Given the description of an element on the screen output the (x, y) to click on. 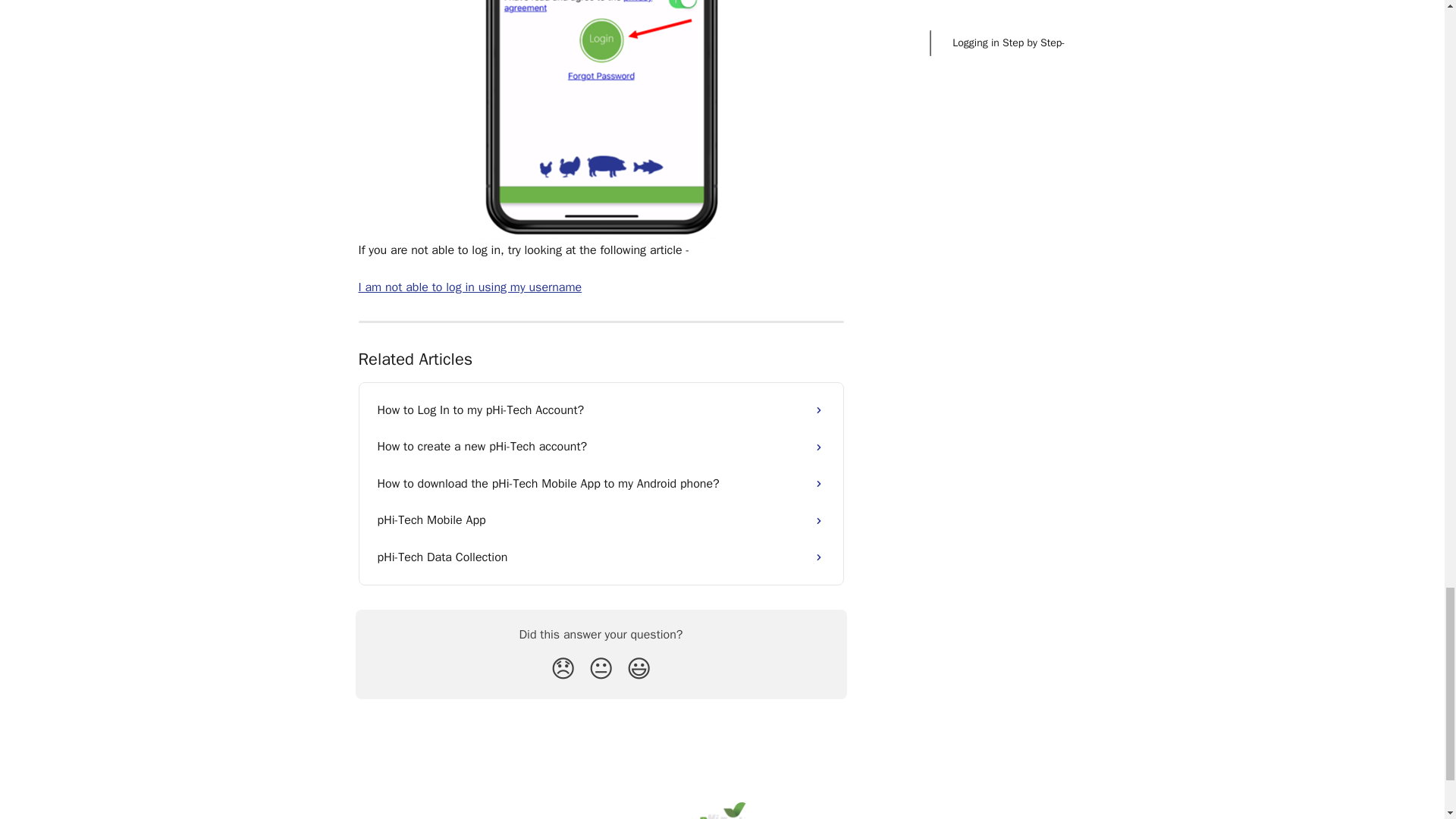
pHi-Tech Mobile App (601, 520)
Disappointed (562, 668)
How to download the pHi-Tech Mobile App to my Android phone? (601, 484)
Neutral (600, 668)
How to Log In to my pHi-Tech Account? (601, 410)
pHi-Tech Data Collection (601, 556)
Smiley (638, 668)
How to create a new pHi-Tech account? (601, 446)
I am not able to log in using my username (469, 287)
